Given the description of an element on the screen output the (x, y) to click on. 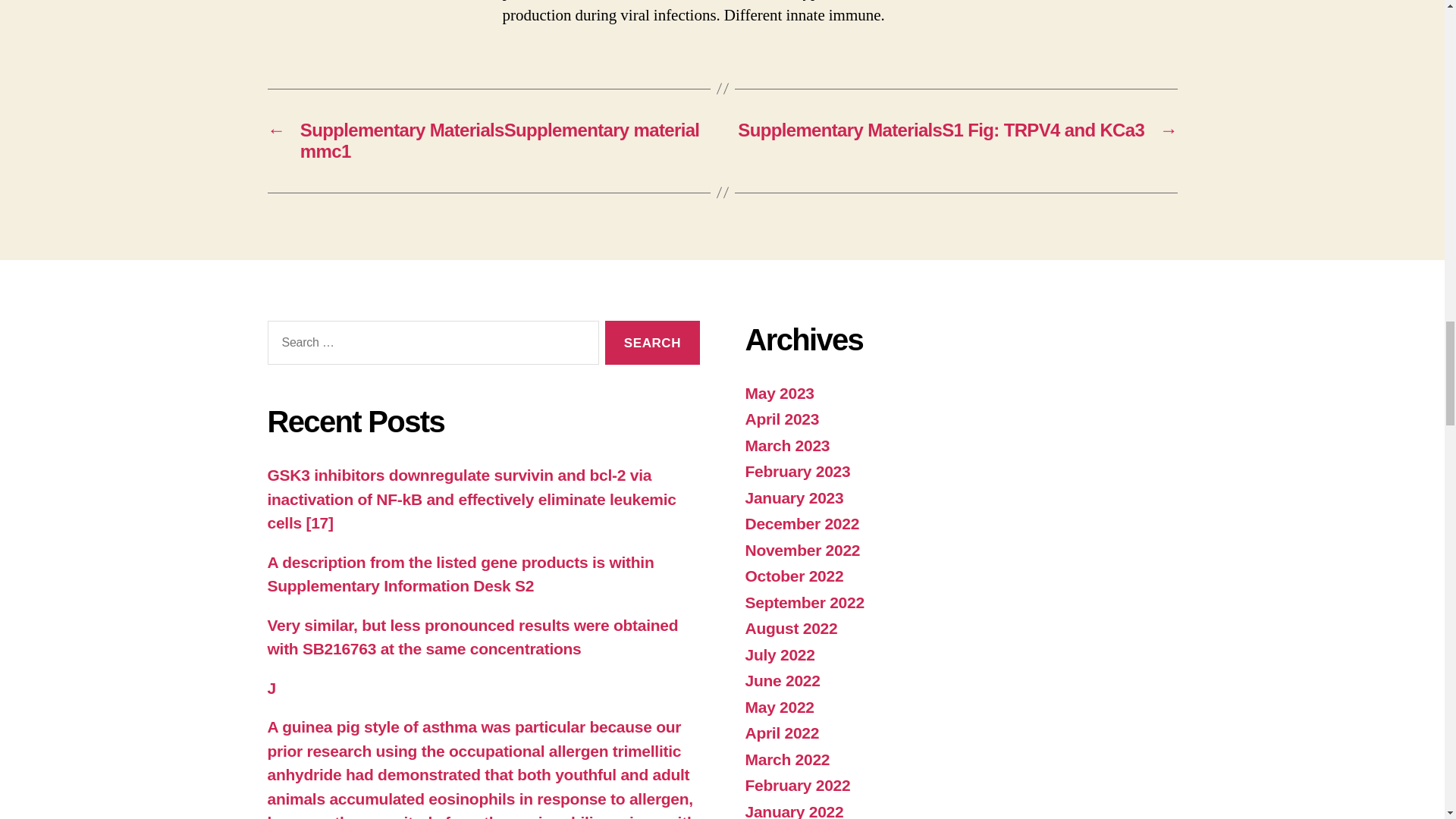
May 2023 (778, 393)
February 2023 (797, 470)
September 2022 (803, 601)
March 2022 (786, 759)
March 2023 (786, 445)
December 2022 (801, 523)
April 2023 (781, 418)
May 2022 (778, 706)
Search (651, 343)
August 2022 (790, 628)
